Given the description of an element on the screen output the (x, y) to click on. 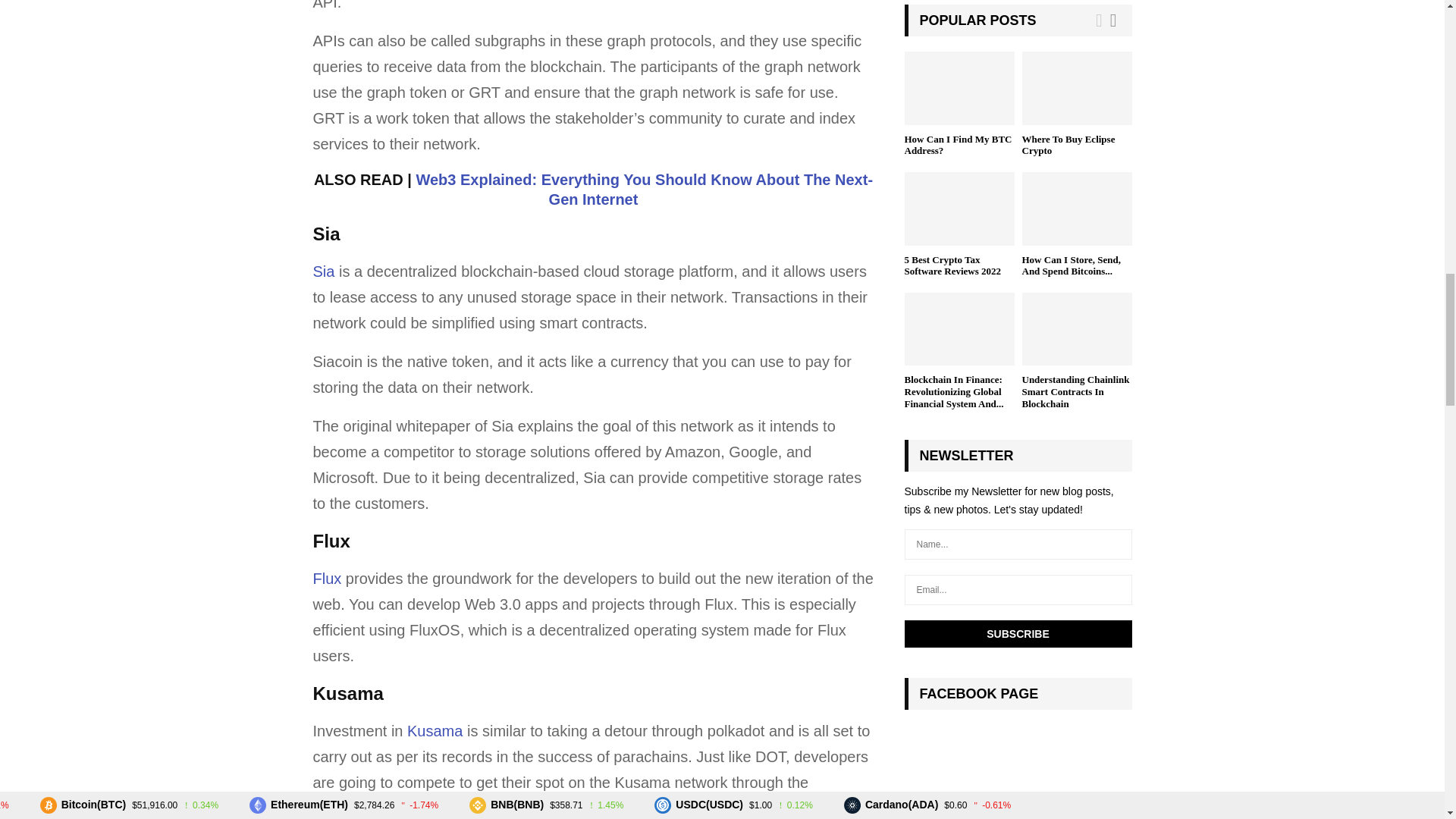
Subscribe (1017, 633)
